Given the description of an element on the screen output the (x, y) to click on. 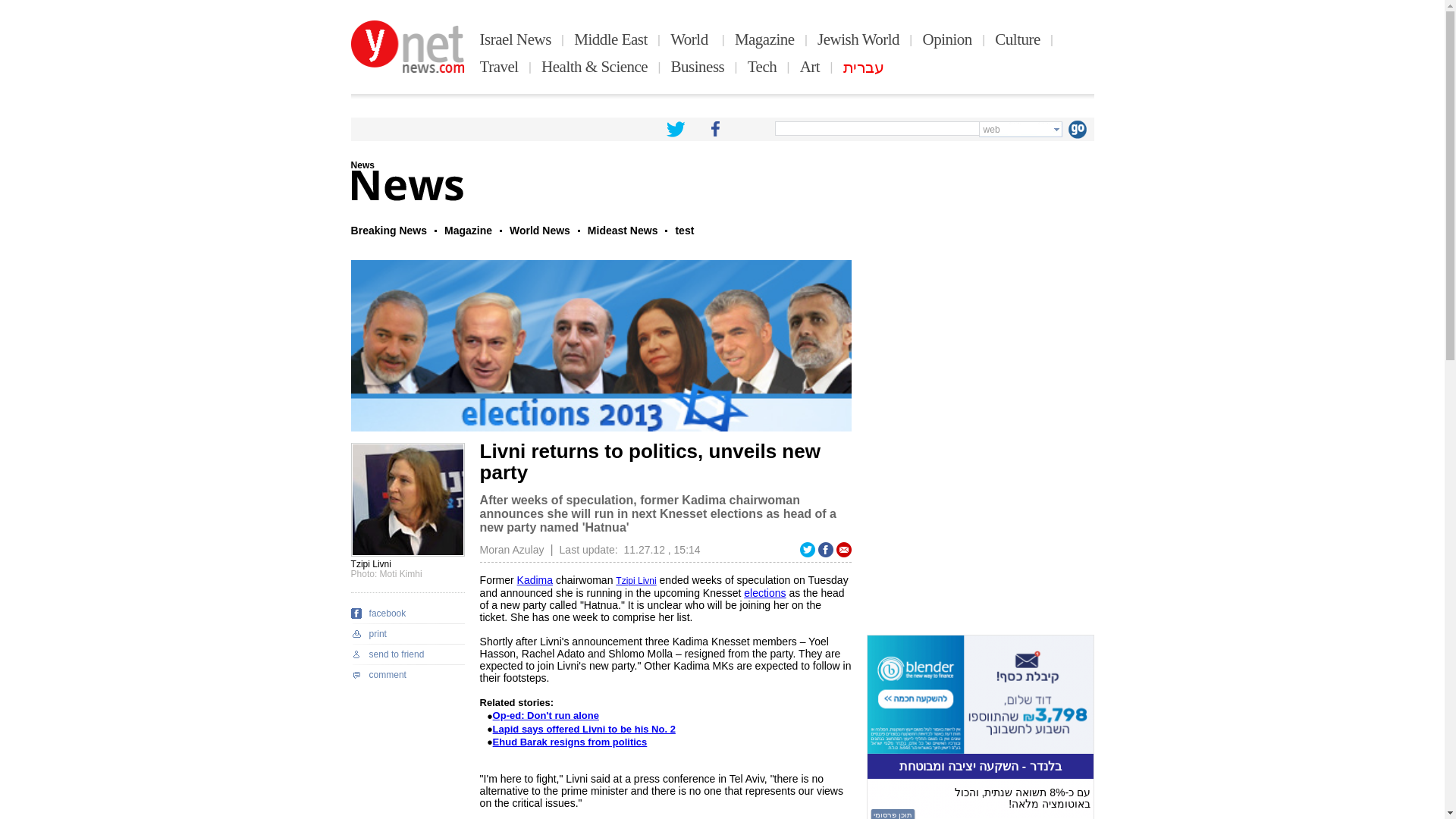
Ynetnews on Twitter (675, 129)
Magazine (468, 230)
test (684, 230)
Culture (1017, 39)
Israel News (515, 39)
Ynetnews - news and updates 24 hours (407, 46)
Tech (762, 66)
Middle East (610, 39)
Jewish World (857, 39)
Photos: Ohad Zwigenberg, Ofer Amram, Haim Zach, Ido Erez (600, 345)
Business (698, 66)
Magazine (764, 39)
Opinion (947, 39)
Travel (499, 66)
News (362, 164)
